Given the description of an element on the screen output the (x, y) to click on. 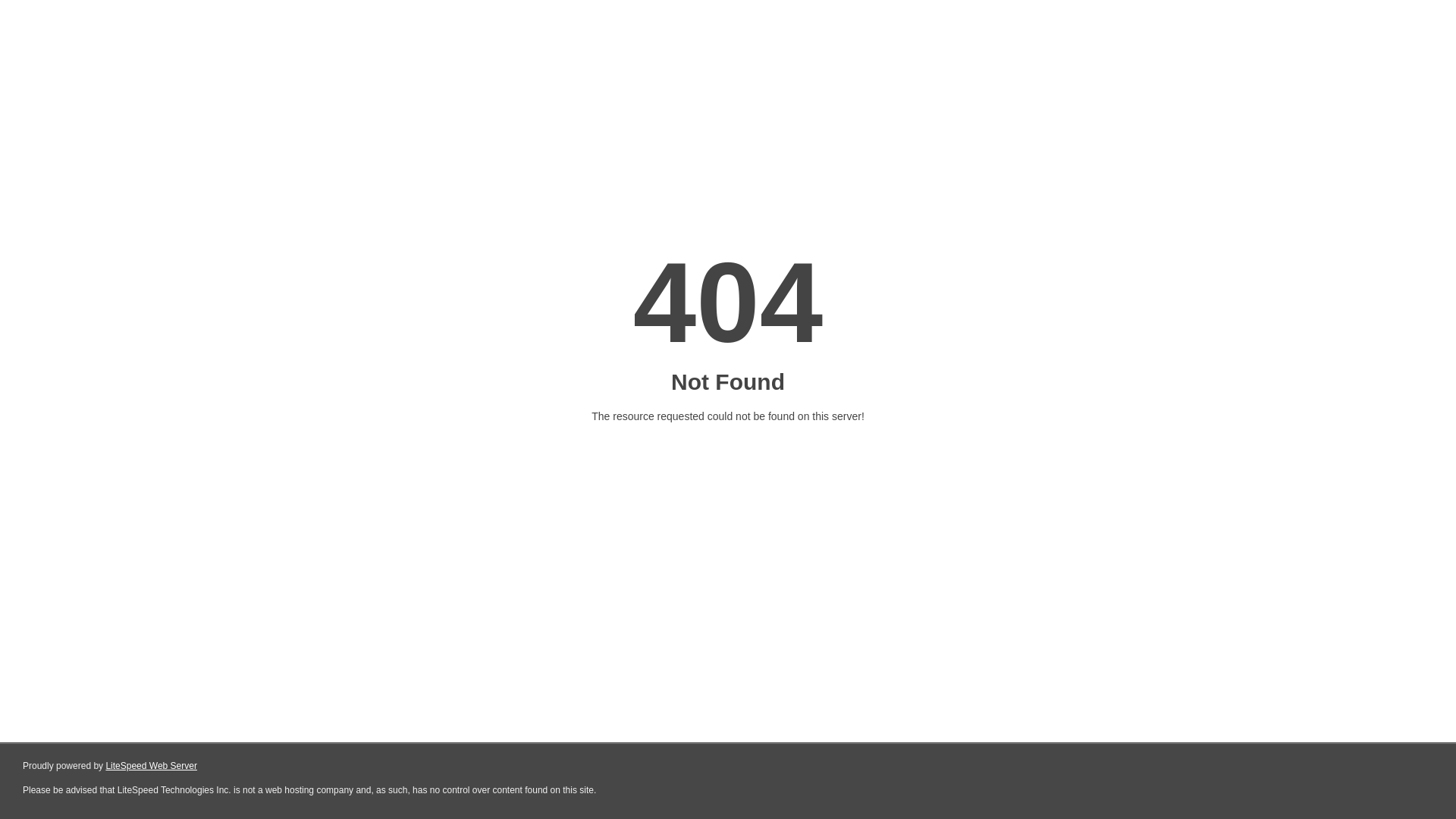
LiteSpeed Web Server Element type: text (151, 765)
